Given the description of an element on the screen output the (x, y) to click on. 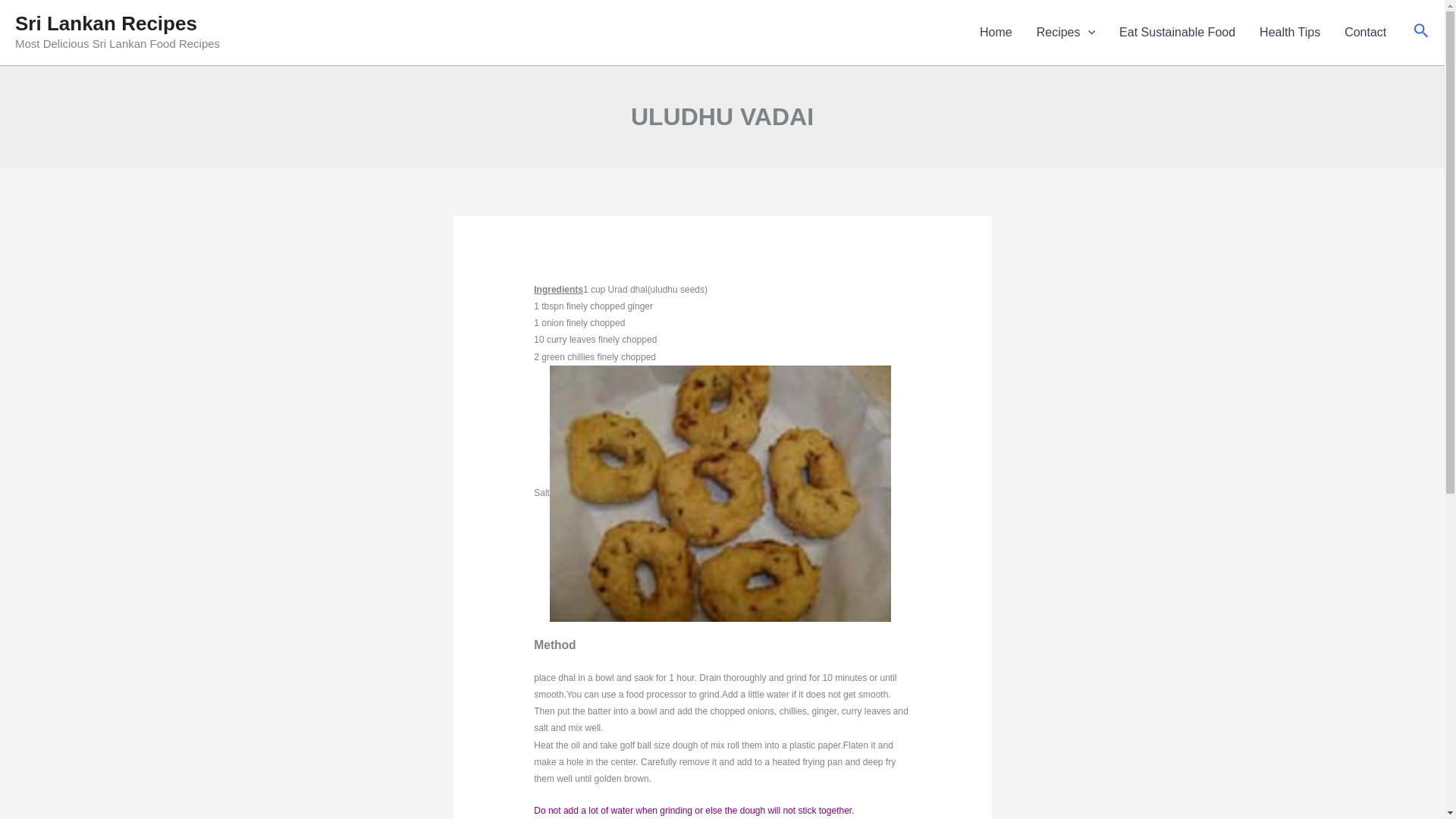
Sri Lankan Recipes (105, 23)
Recipes (1065, 32)
Contact (1364, 32)
Health Tips (1289, 32)
Eat Sustainable Food (1176, 32)
Home (996, 32)
Search (1421, 32)
